Given the description of an element on the screen output the (x, y) to click on. 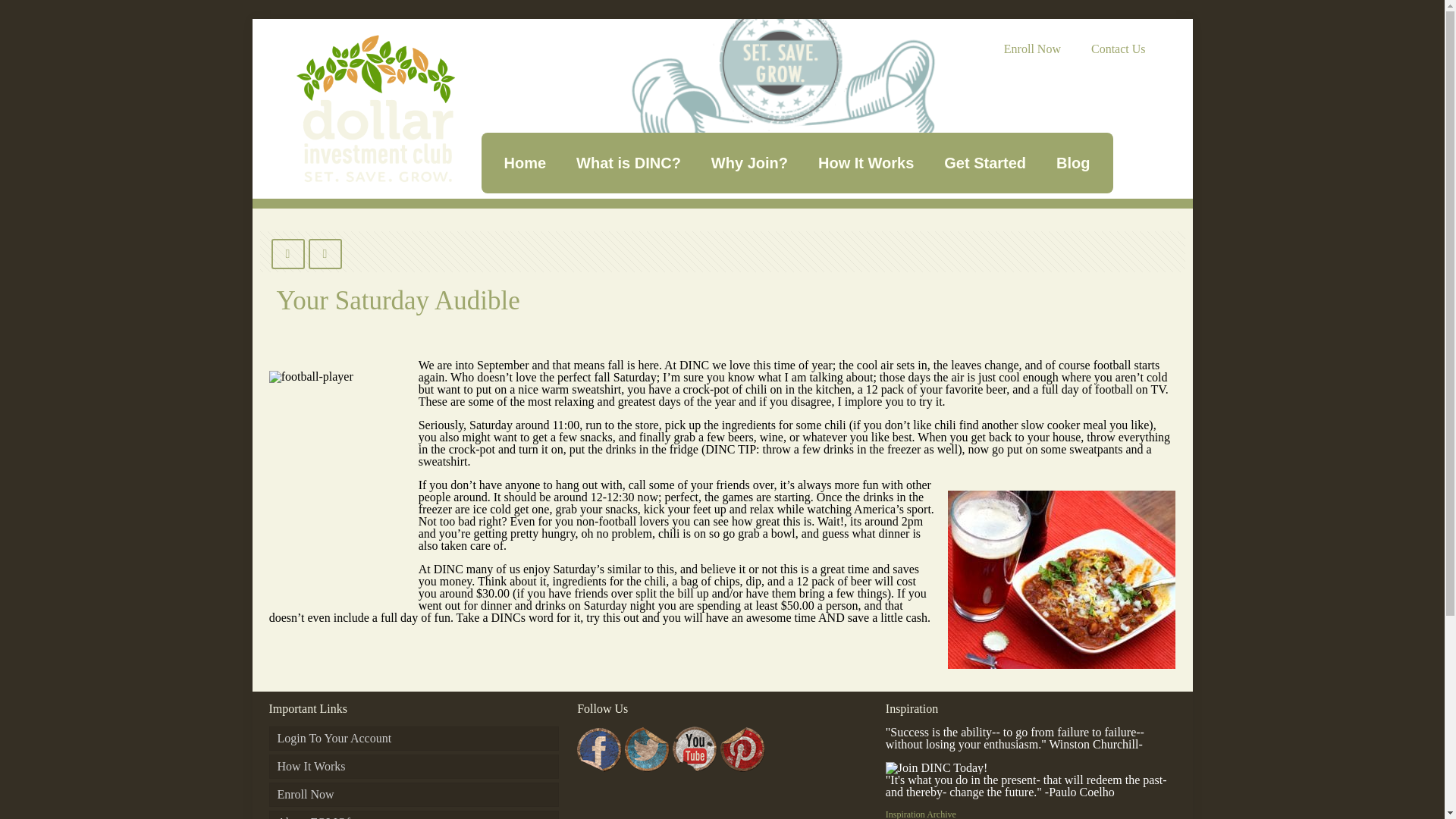
What is DINC? (627, 162)
Dollar Investment Club (374, 108)
About FOLIOfn (413, 814)
Login To Your Account (413, 738)
Enroll Now (413, 794)
How It Works (865, 162)
Why Join? (749, 162)
How It Works (413, 766)
Inspiration Archive (920, 814)
Home (523, 162)
